Given the description of an element on the screen output the (x, y) to click on. 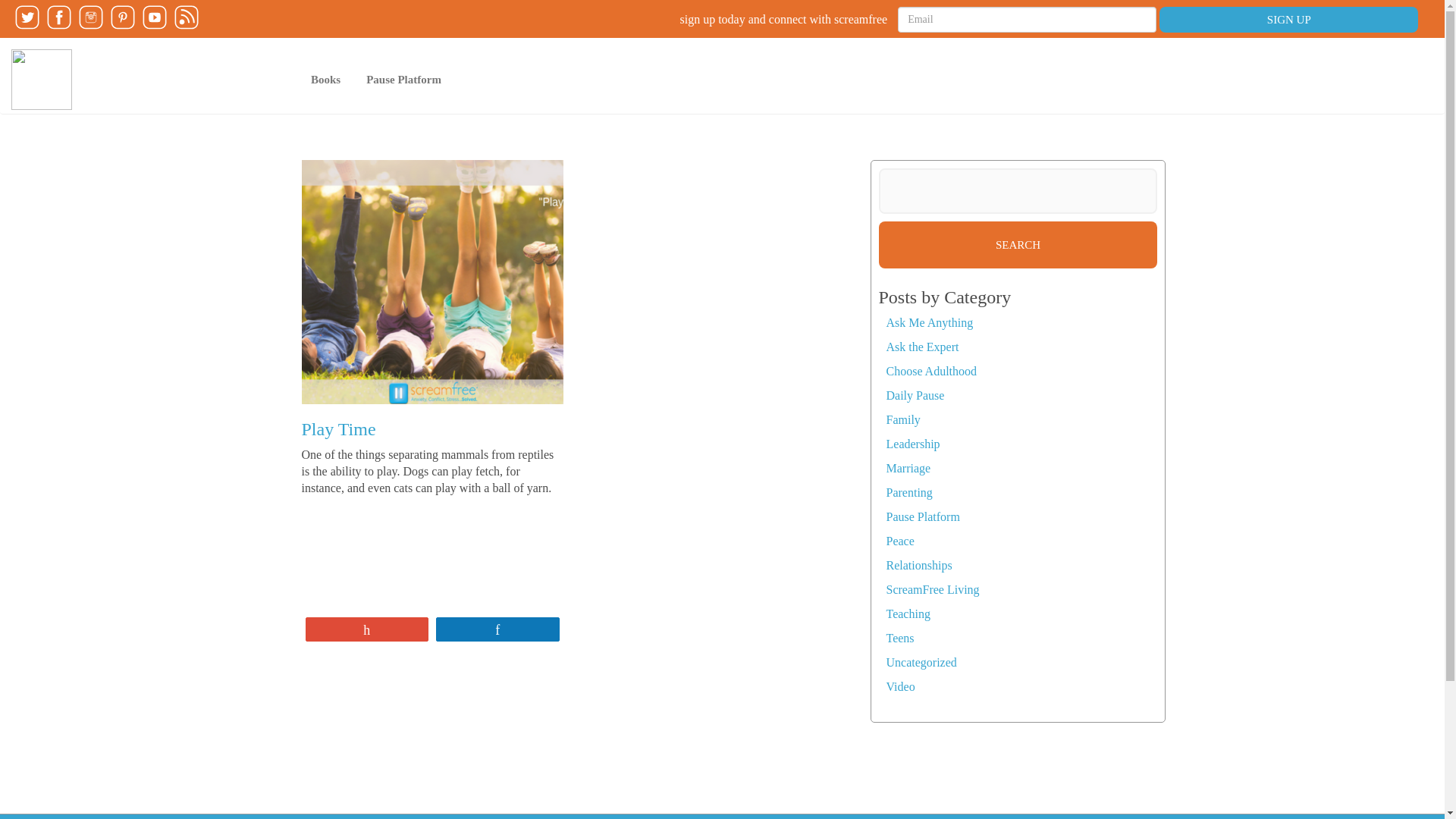
Ask Me Anything (928, 322)
Relationships (918, 564)
Leadership (912, 443)
Video (899, 686)
Peace (899, 540)
Pause Platform (403, 79)
Ask the Expert (921, 346)
Play Time (338, 428)
Parenting (908, 492)
Choose Adulthood (930, 370)
Uncategorized (920, 662)
Search (1017, 244)
Books (325, 79)
ScreamFree Living (931, 589)
Books (325, 79)
